Given the description of an element on the screen output the (x, y) to click on. 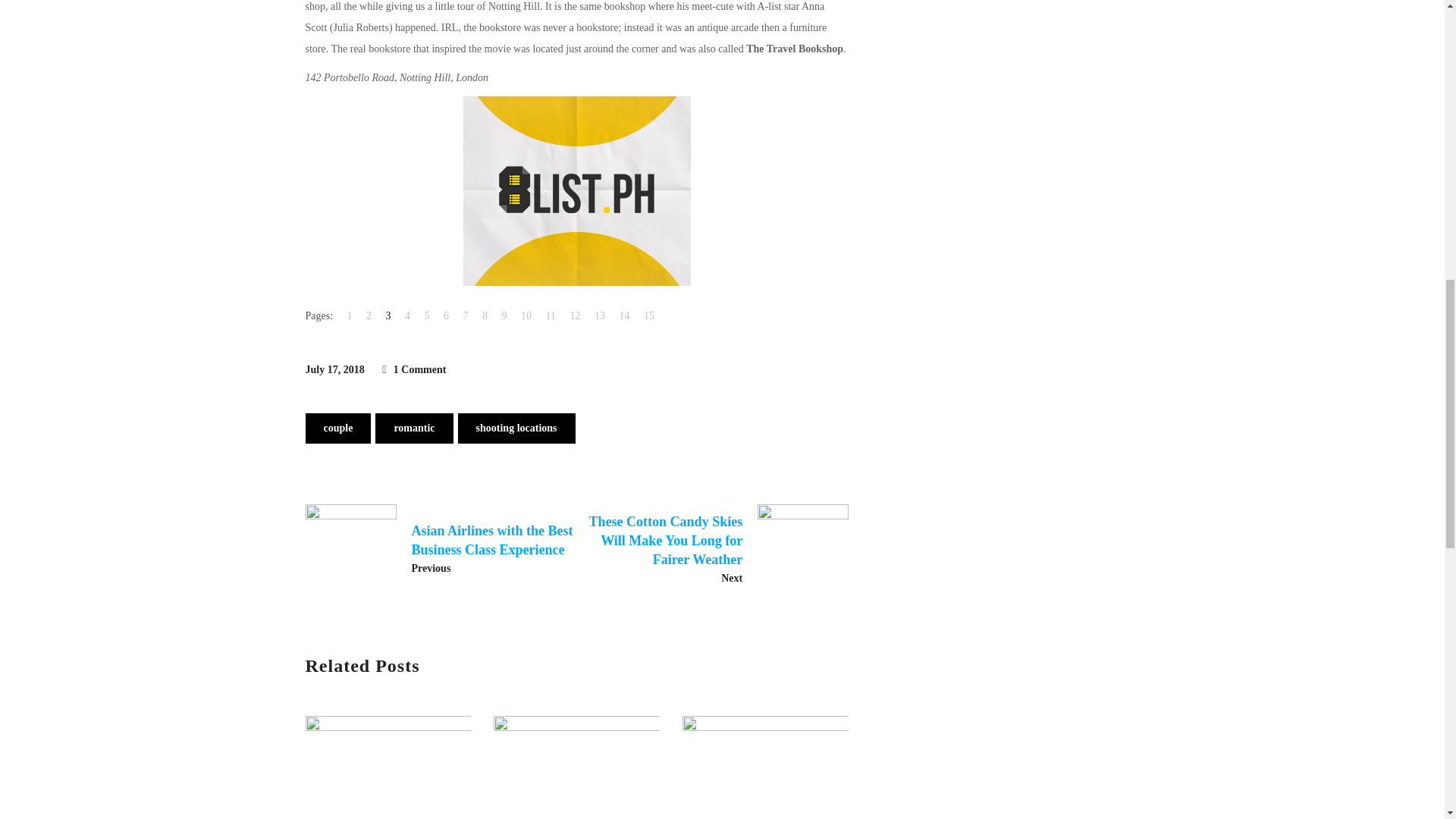
5 Romantic Date Night Spots for Your Singapore Trip (387, 759)
